Given the description of an element on the screen output the (x, y) to click on. 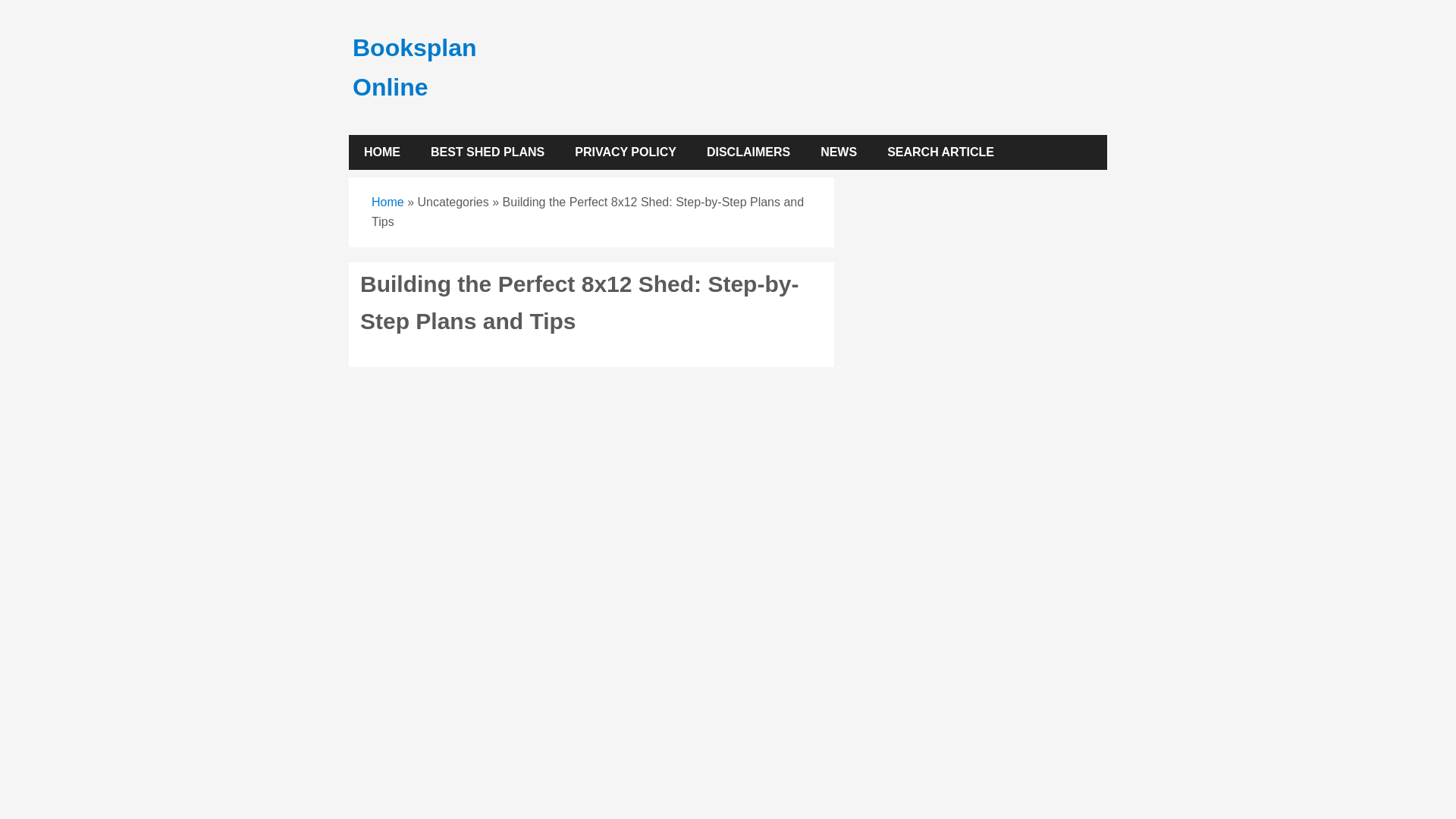
BEST SHED PLANS (486, 152)
SEARCH ARTICLE (940, 152)
HOME (381, 152)
Booksplan Online (414, 67)
Home (387, 201)
NEWS (838, 152)
PRIVACY POLICY (625, 152)
DISCLAIMERS (748, 152)
